Given the description of an element on the screen output the (x, y) to click on. 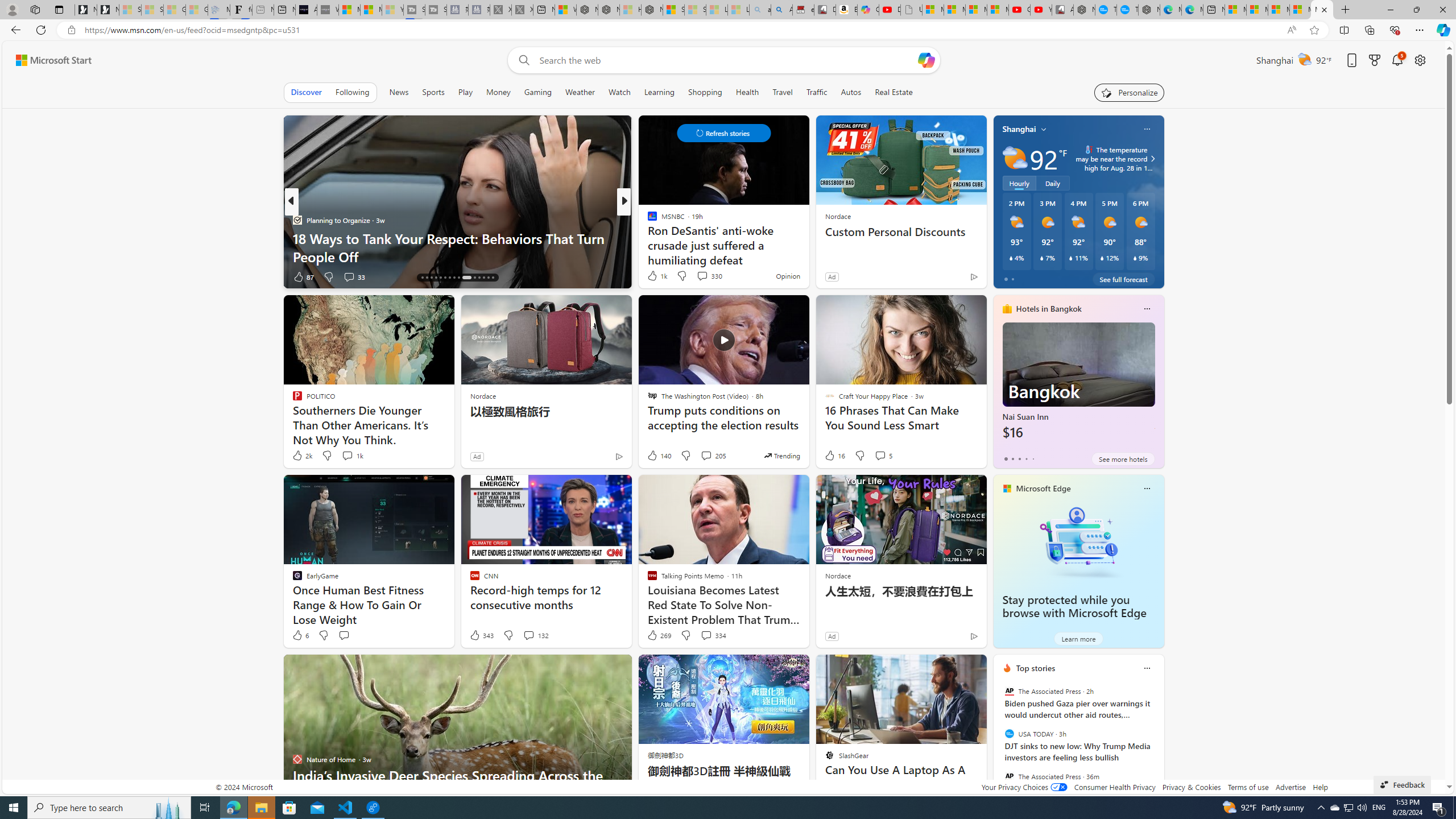
44 Like (652, 276)
New Tab (1346, 9)
